Given the description of an element on the screen output the (x, y) to click on. 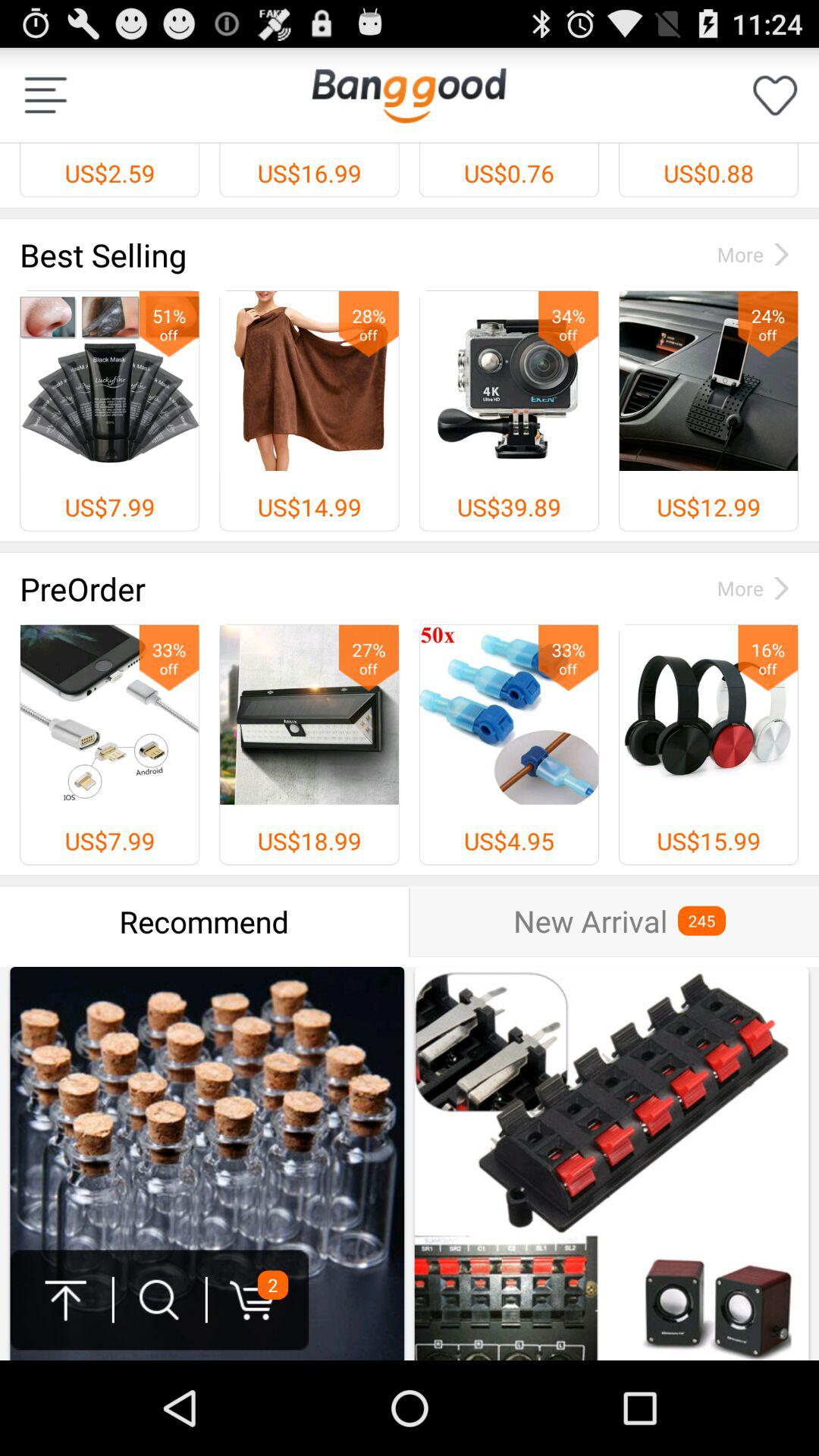
tap the icon next to the 245 (590, 920)
